Given the description of an element on the screen output the (x, y) to click on. 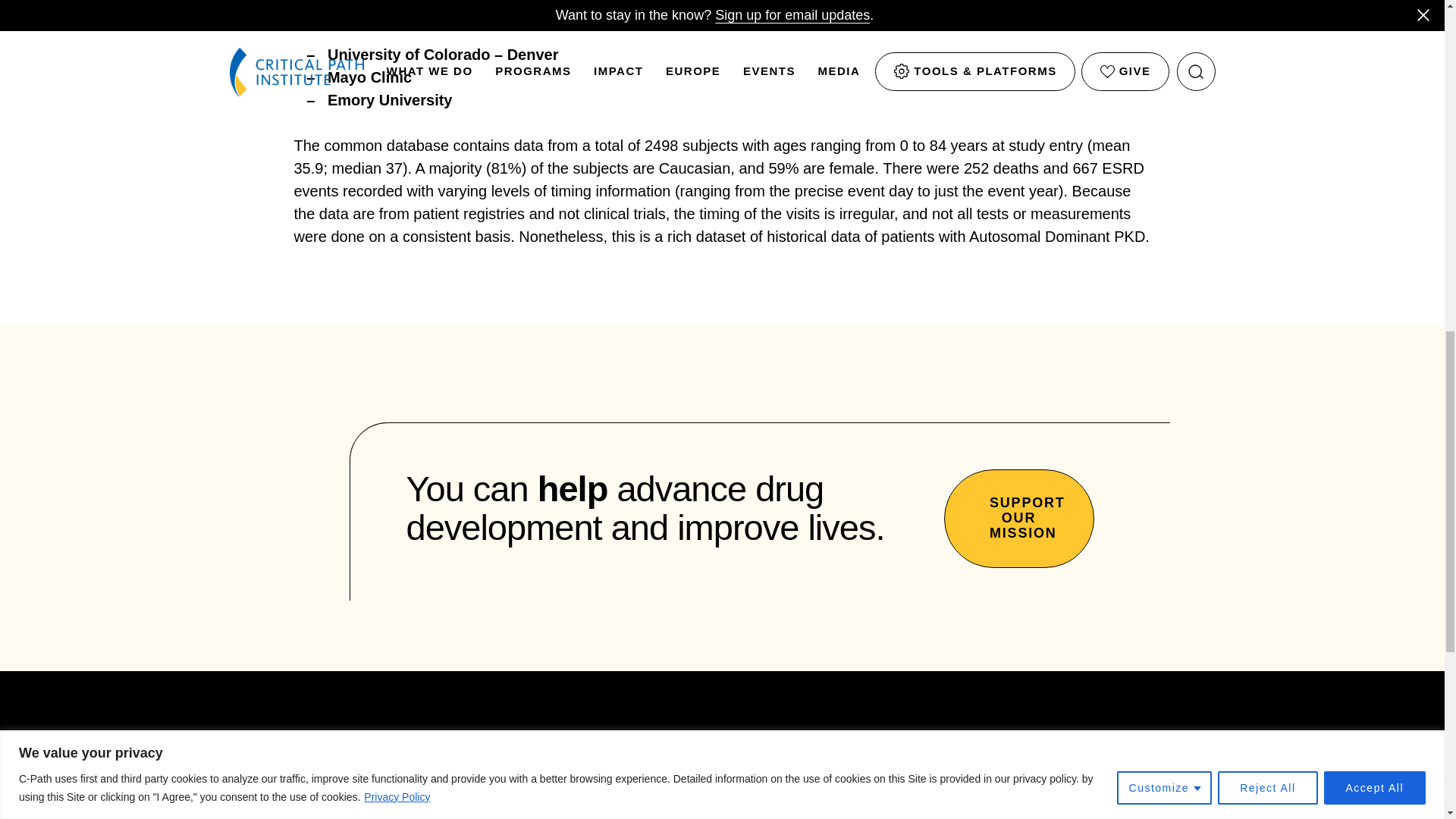
SUPPORT OUR MISSION (1018, 517)
Support Our Mission (1018, 517)
